Given the description of an element on the screen output the (x, y) to click on. 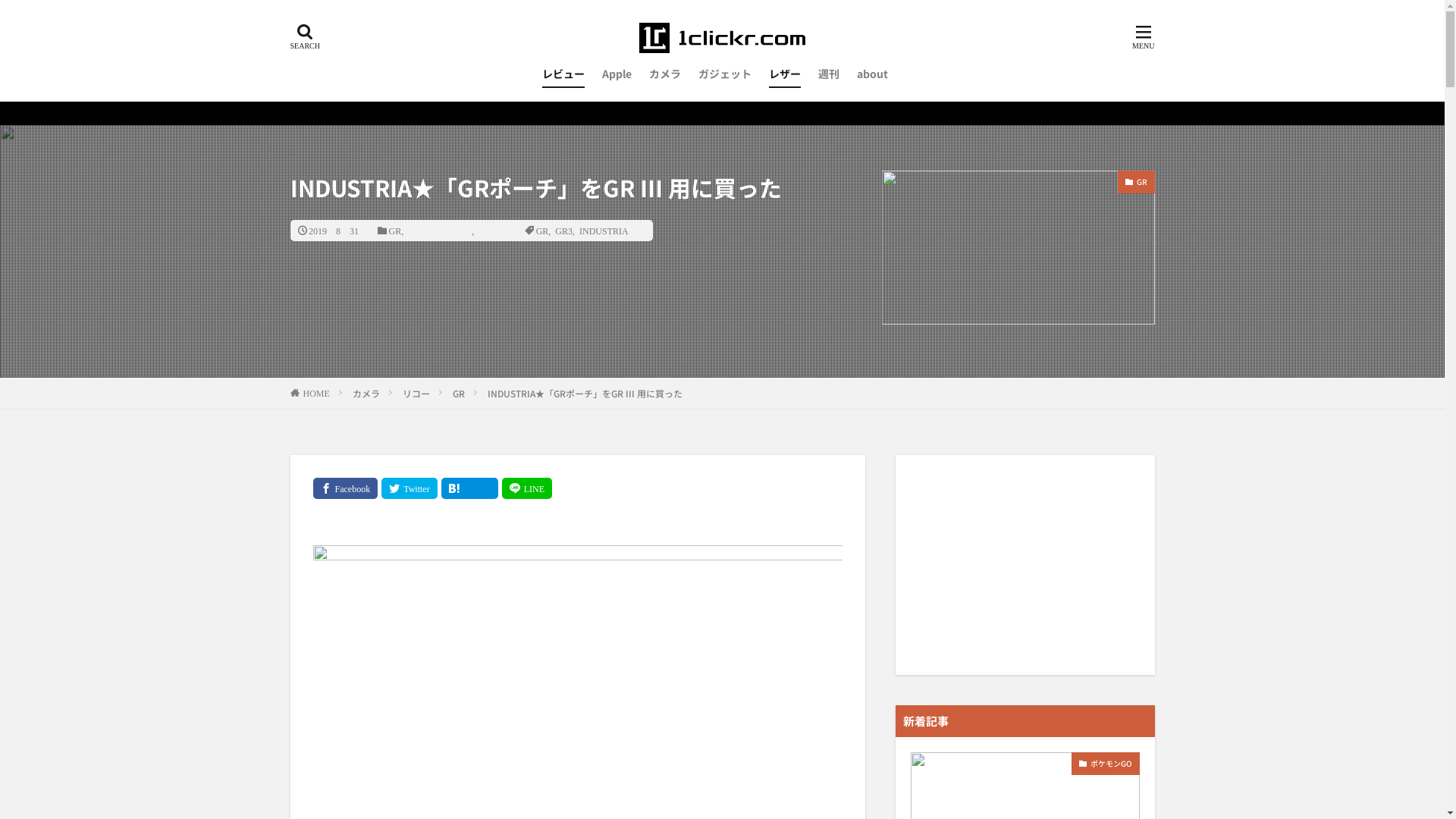
HOME Element type: text (316, 392)
GR3 Element type: text (563, 230)
GR Element type: text (394, 230)
GR Element type: text (458, 392)
Apple Element type: text (616, 73)
Twitter Element type: hover (408, 487)
LINE Element type: hover (527, 487)
Advertisement Element type: hover (1024, 564)
about Element type: text (872, 73)
GR Element type: text (542, 230)
Facebook Element type: hover (344, 487)
GR Element type: text (1135, 181)
